Given the description of an element on the screen output the (x, y) to click on. 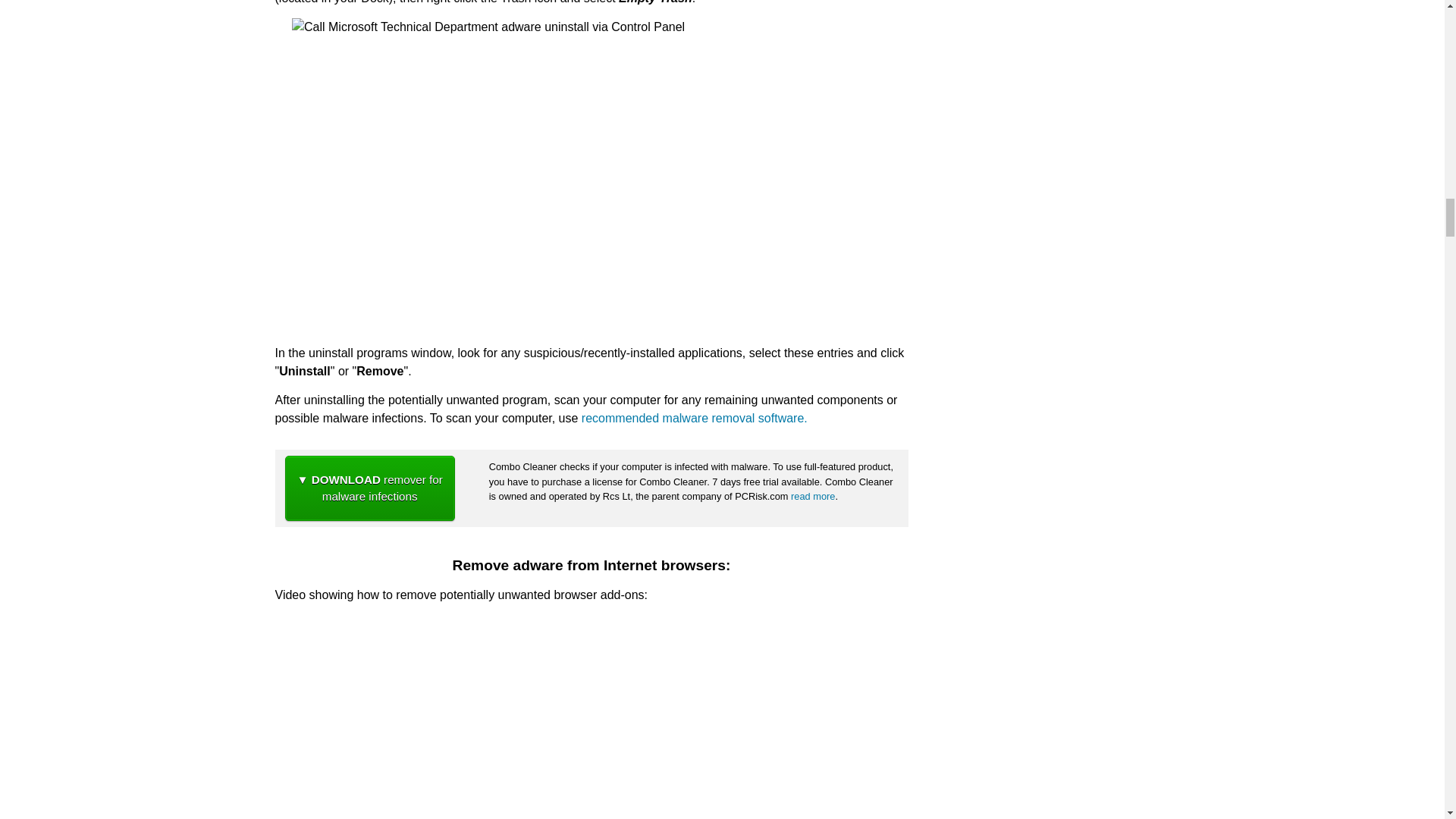
Read more about us (812, 496)
Video (591, 717)
